Given the description of an element on the screen output the (x, y) to click on. 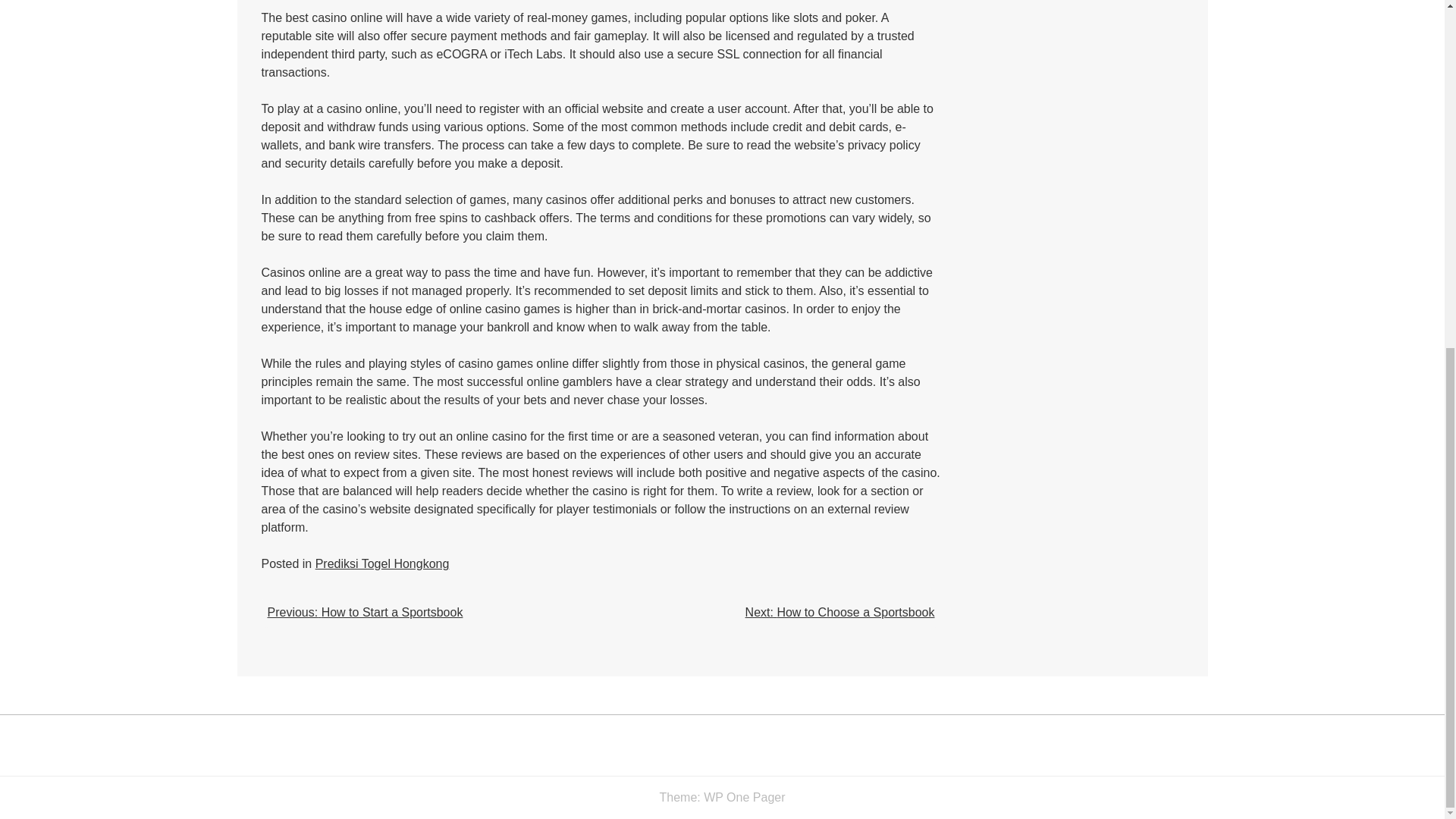
Previous: How to Start a Sportsbook (364, 612)
Next: How to Choose a Sportsbook (839, 612)
WP One Pager (743, 797)
Prediksi Togel Hongkong (382, 563)
